Given the description of an element on the screen output the (x, y) to click on. 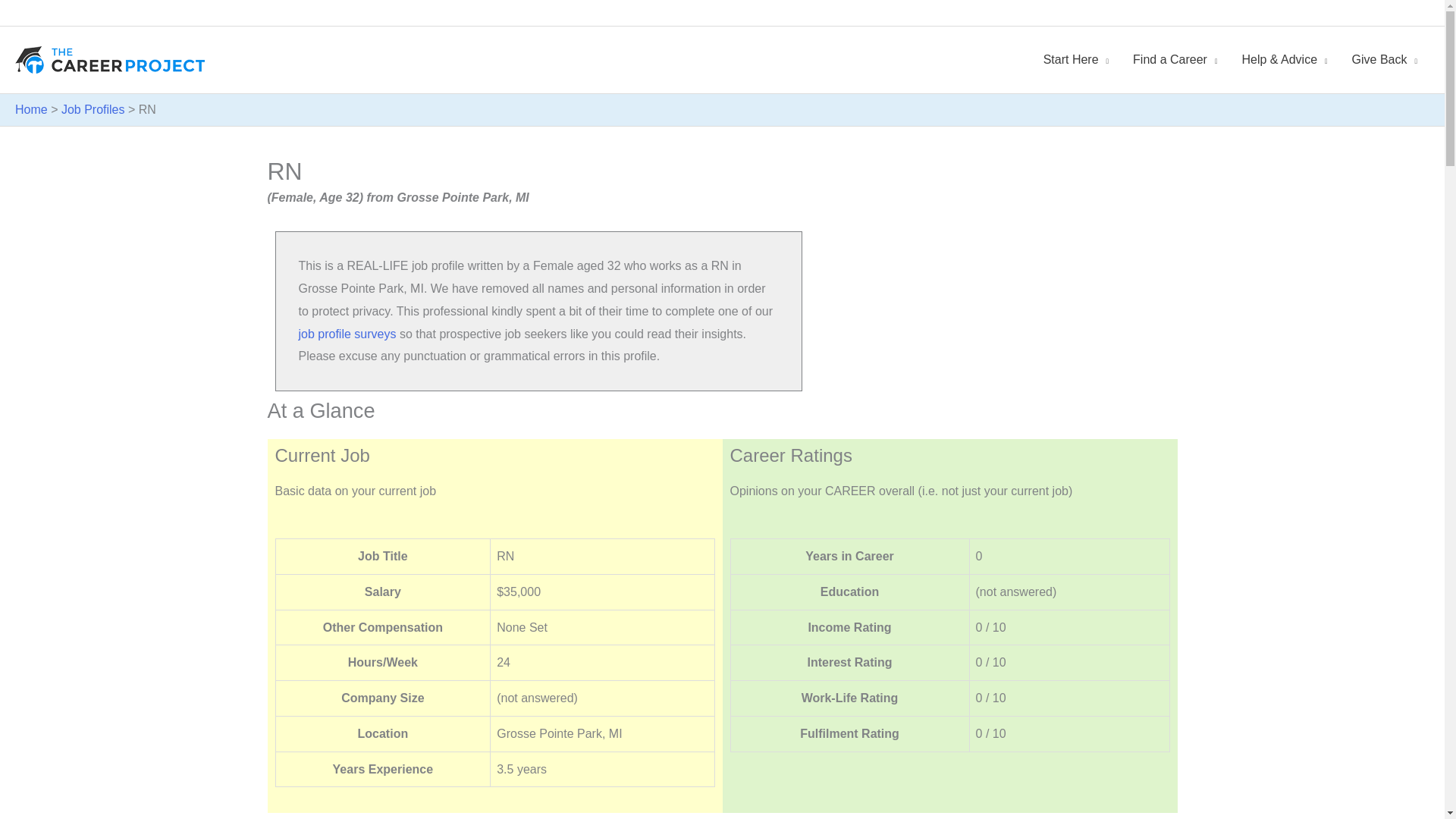
Contact (1409, 12)
Go to The Career Project. (31, 109)
About (1331, 12)
Home (1289, 12)
Find a Career (1174, 60)
Start Here (1075, 60)
Go to Job Profiles. (93, 109)
Blog (1370, 12)
